Given the description of an element on the screen output the (x, y) to click on. 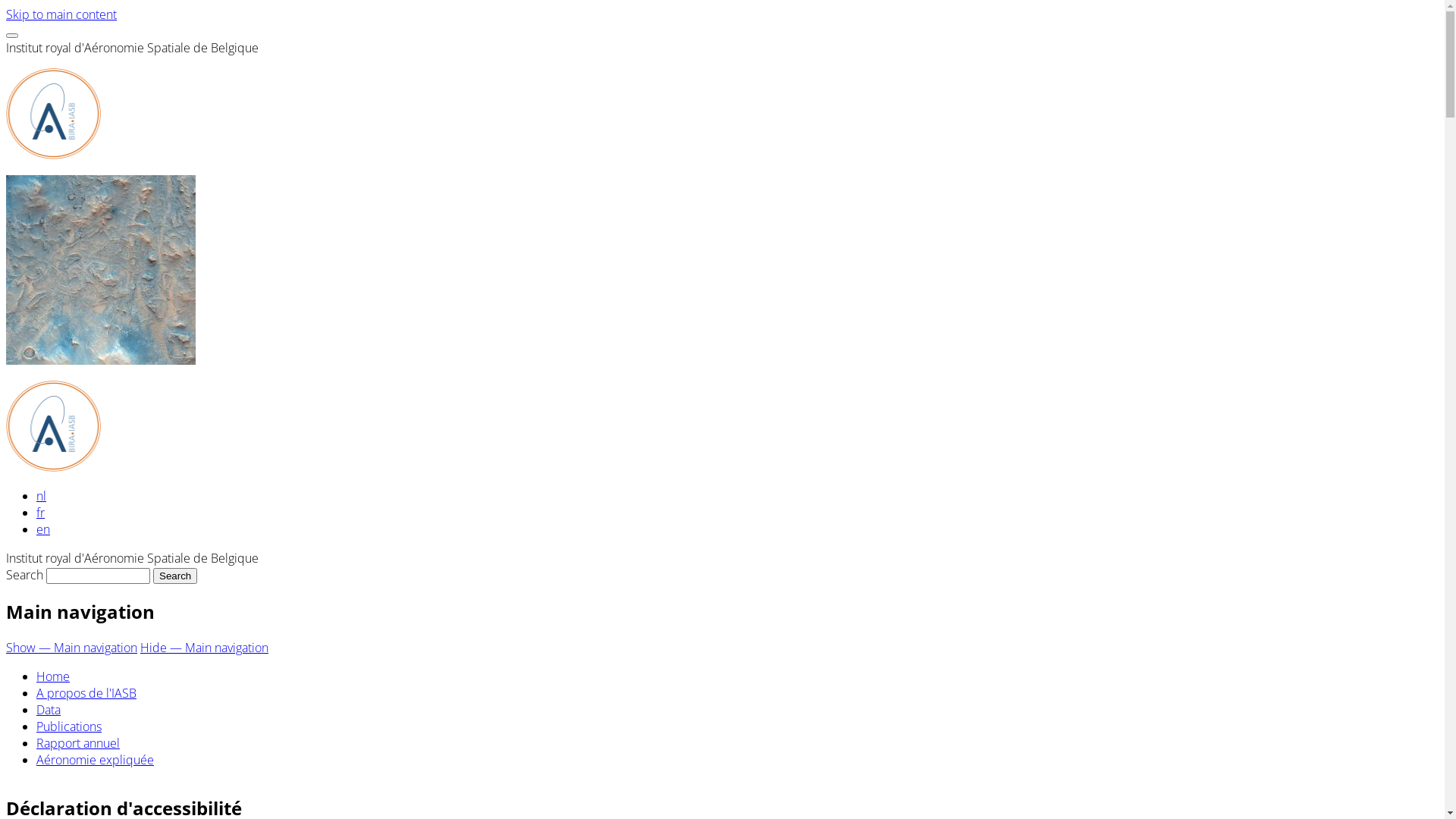
Rapport annuel Element type: text (77, 742)
Enter the terms you wish to search for. Element type: hover (98, 575)
en Element type: text (43, 528)
nl Element type: text (41, 495)
Search Element type: text (175, 575)
Home Element type: text (52, 676)
Publications Element type: text (68, 726)
Skip to main content Element type: text (61, 14)
Data Element type: text (48, 709)
A propos de l'IASB Element type: text (86, 692)
fr Element type: text (40, 512)
